Given the description of an element on the screen output the (x, y) to click on. 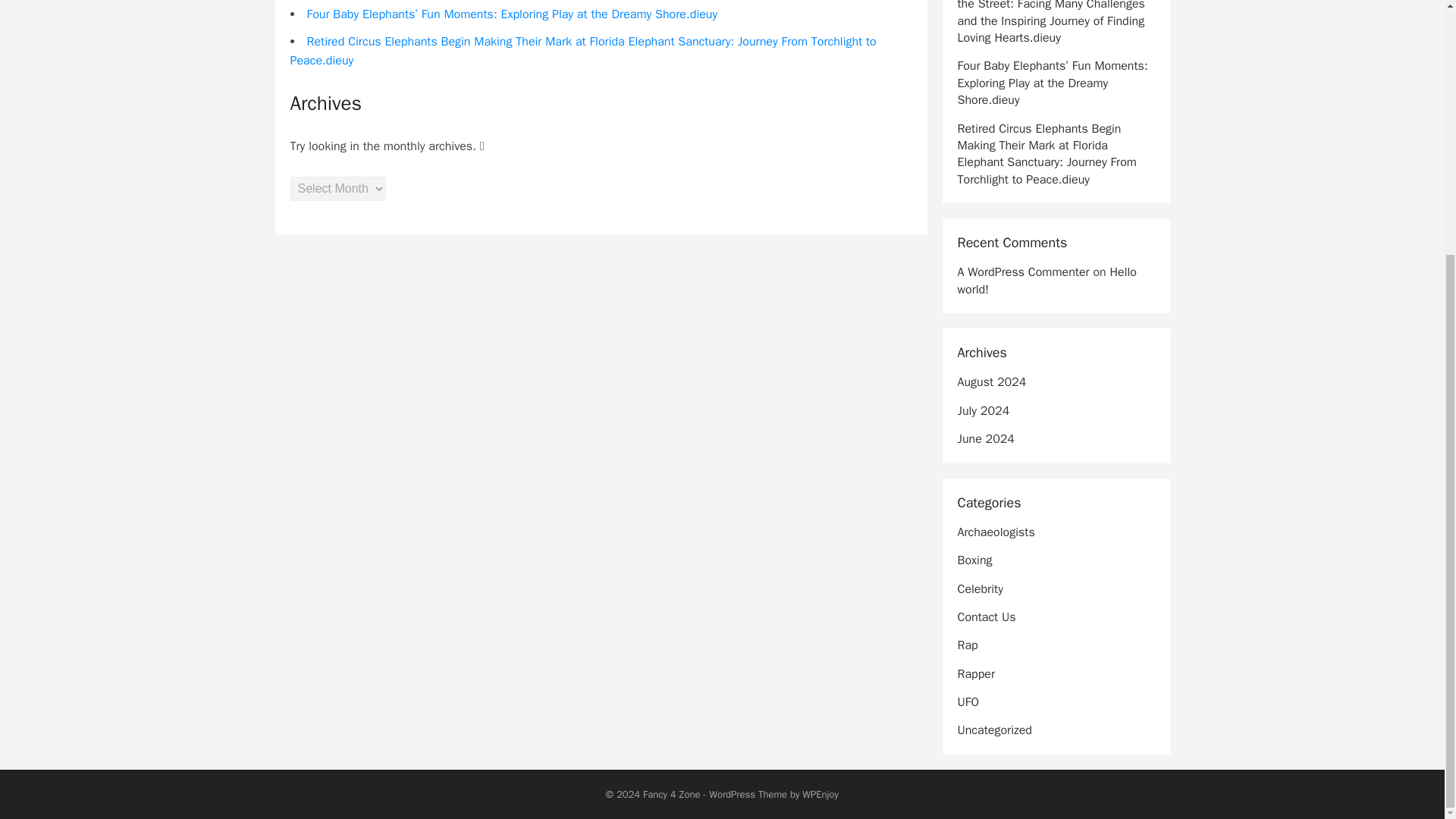
August 2024 (991, 381)
Archaeologists (994, 531)
Boxing (973, 560)
Hello world! (1045, 280)
July 2024 (982, 410)
A WordPress Commenter (1022, 272)
June 2024 (984, 438)
Contact Us (985, 616)
Uncategorized (993, 729)
Rapper (975, 673)
Celebrity (979, 589)
Rap (966, 645)
